Given the description of an element on the screen output the (x, y) to click on. 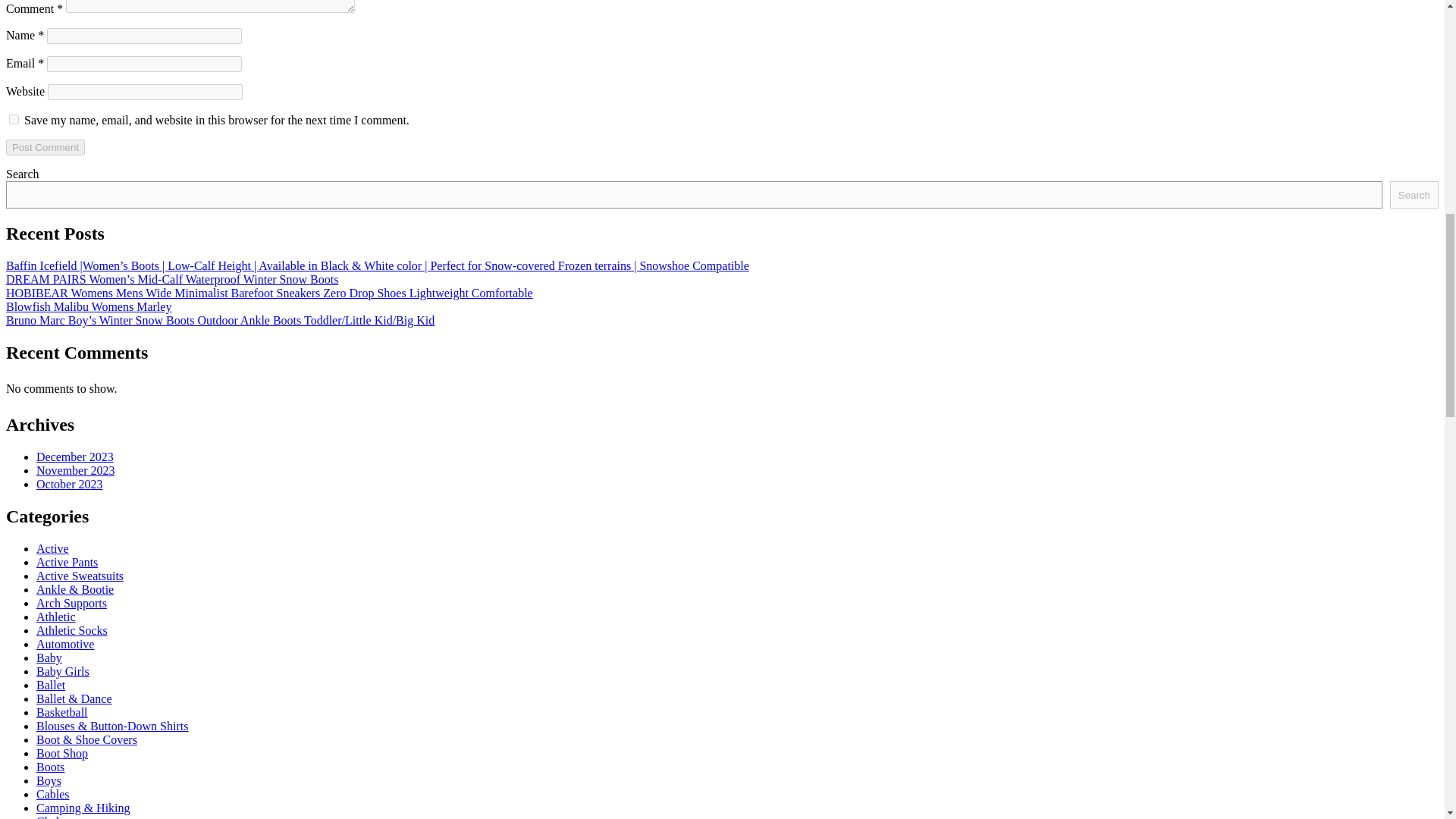
Active (52, 548)
Athletic (55, 616)
Ballet (50, 684)
Blowfish Malibu Womens Marley (88, 306)
Basketball (61, 712)
Cables (52, 793)
Athletic Socks (71, 630)
Baby Girls (62, 671)
Active Sweatsuits (79, 575)
Boot Shop (61, 753)
